Given the description of an element on the screen output the (x, y) to click on. 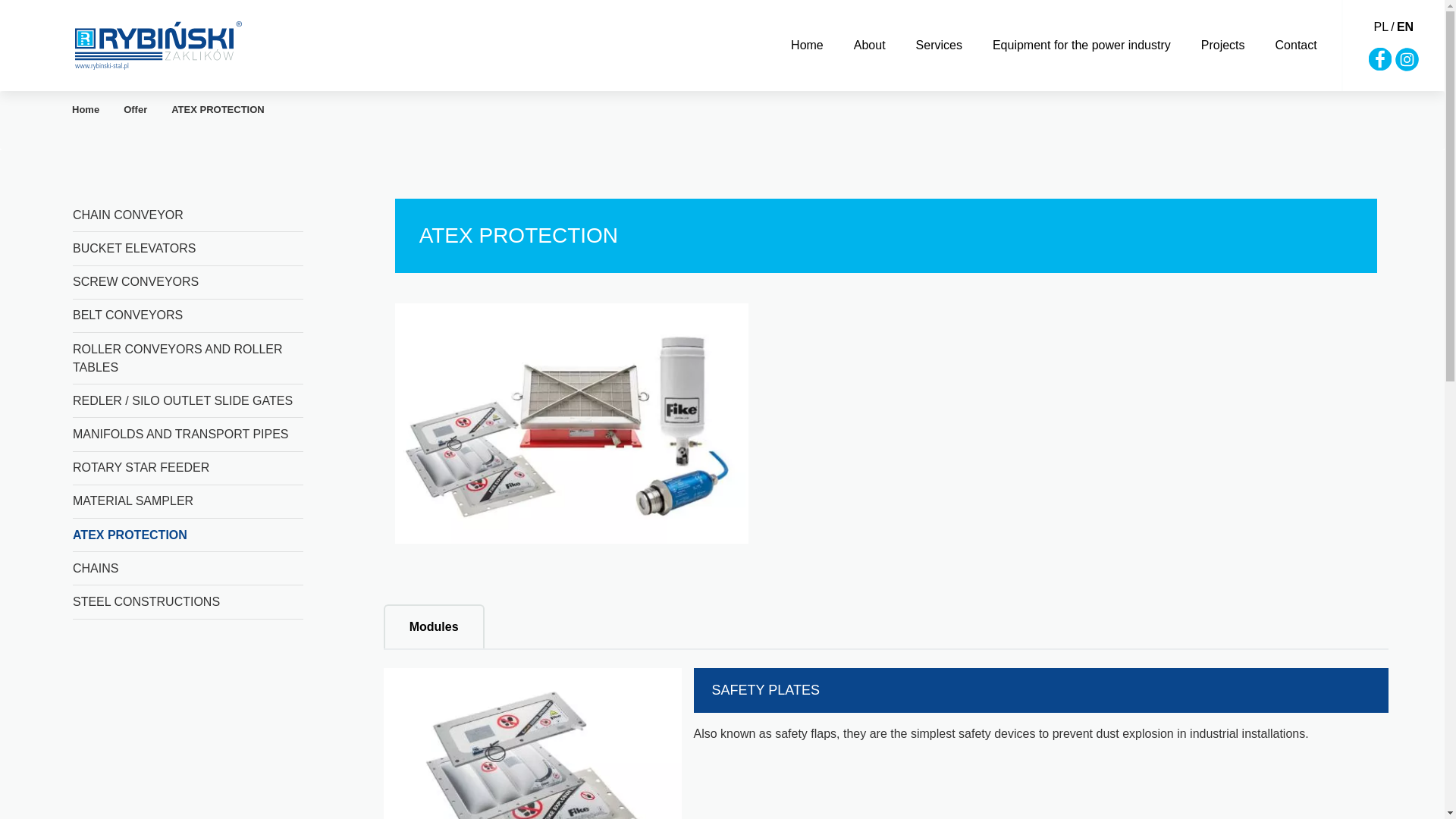
Projects (1222, 44)
About (869, 44)
BUCKET ELEVATORS (133, 248)
PL (1381, 26)
Services (938, 44)
BELT CONVEYORS (127, 314)
Offer (147, 109)
Home (807, 44)
CHAIN CONVEYOR (127, 214)
Contact (1296, 44)
